Given the description of an element on the screen output the (x, y) to click on. 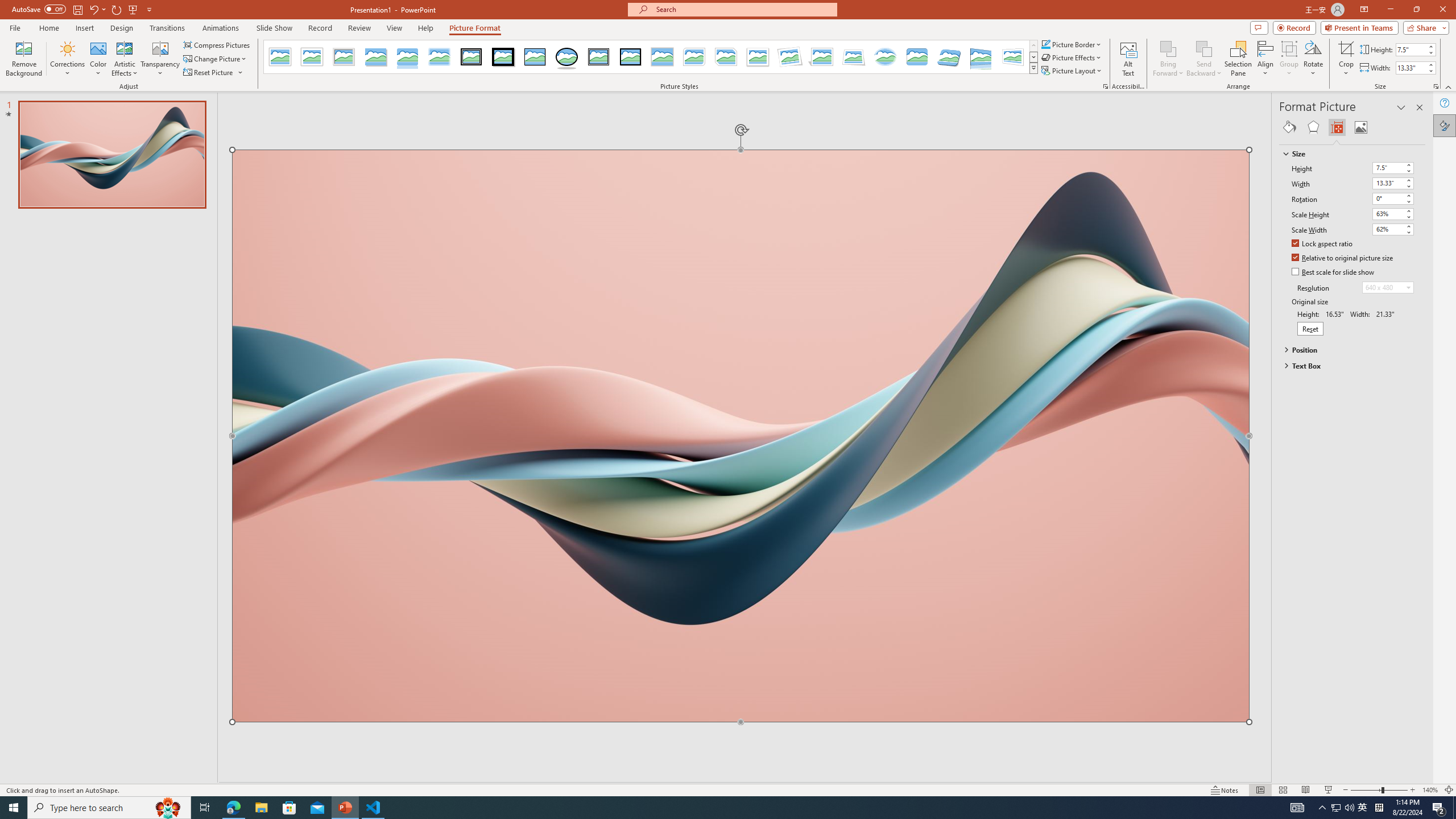
Crop (1345, 48)
Picture (1361, 126)
Reset Picture (208, 72)
Size and Position... (1435, 85)
Artistic Effects (124, 58)
Format Picture (1444, 125)
Picture... (1104, 85)
Width (1393, 183)
Rotated, White (790, 56)
Color (97, 58)
Picture Border Blue, Accent 1 (1045, 44)
